Given the description of an element on the screen output the (x, y) to click on. 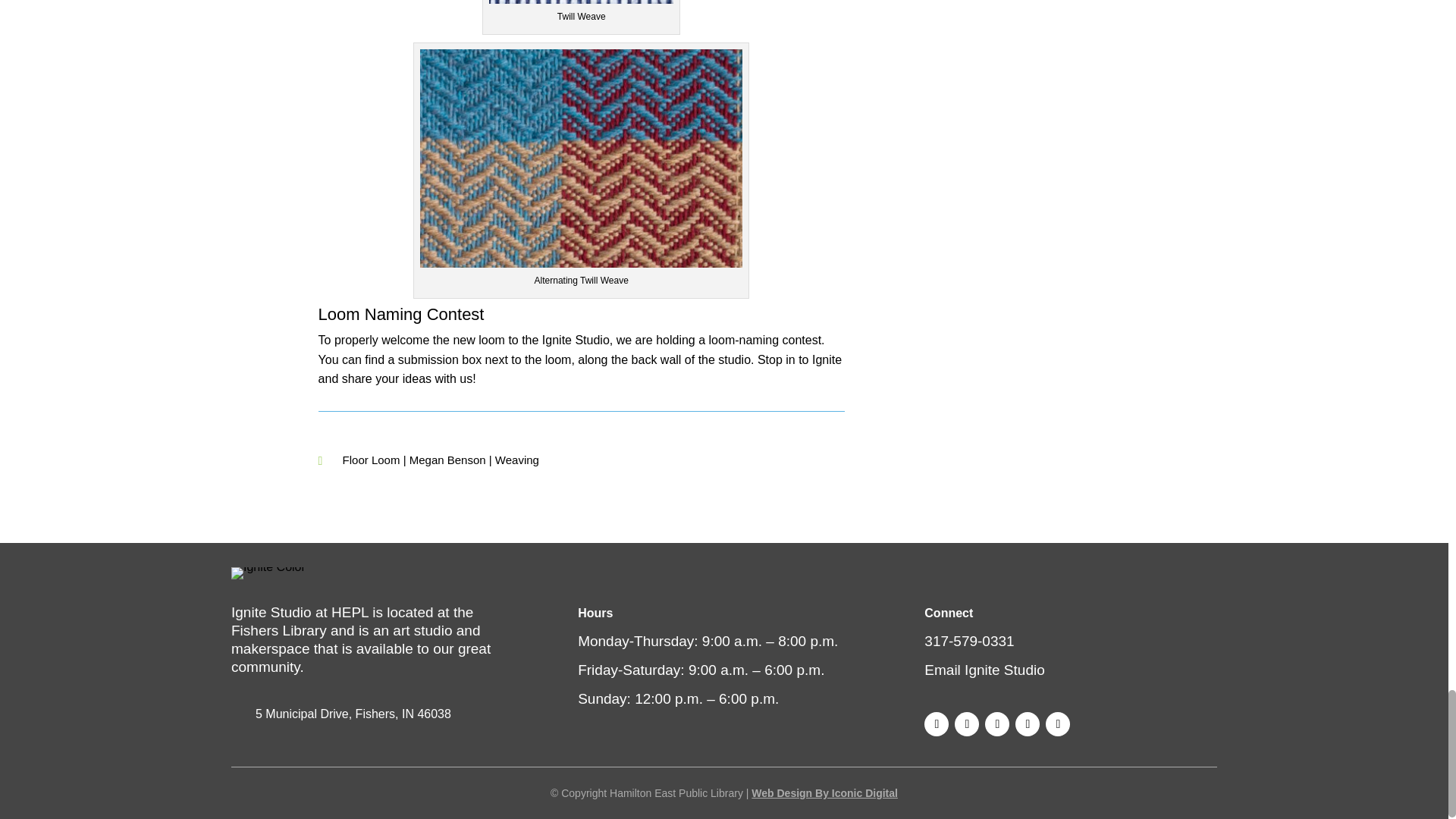
Follow on X (997, 723)
Follow on Instagram (966, 723)
Follow on Youtube (1026, 723)
Ignite Color Reverse (268, 573)
Follow on Facebook (936, 723)
Follow on LinkedIn (1057, 723)
